Given the description of an element on the screen output the (x, y) to click on. 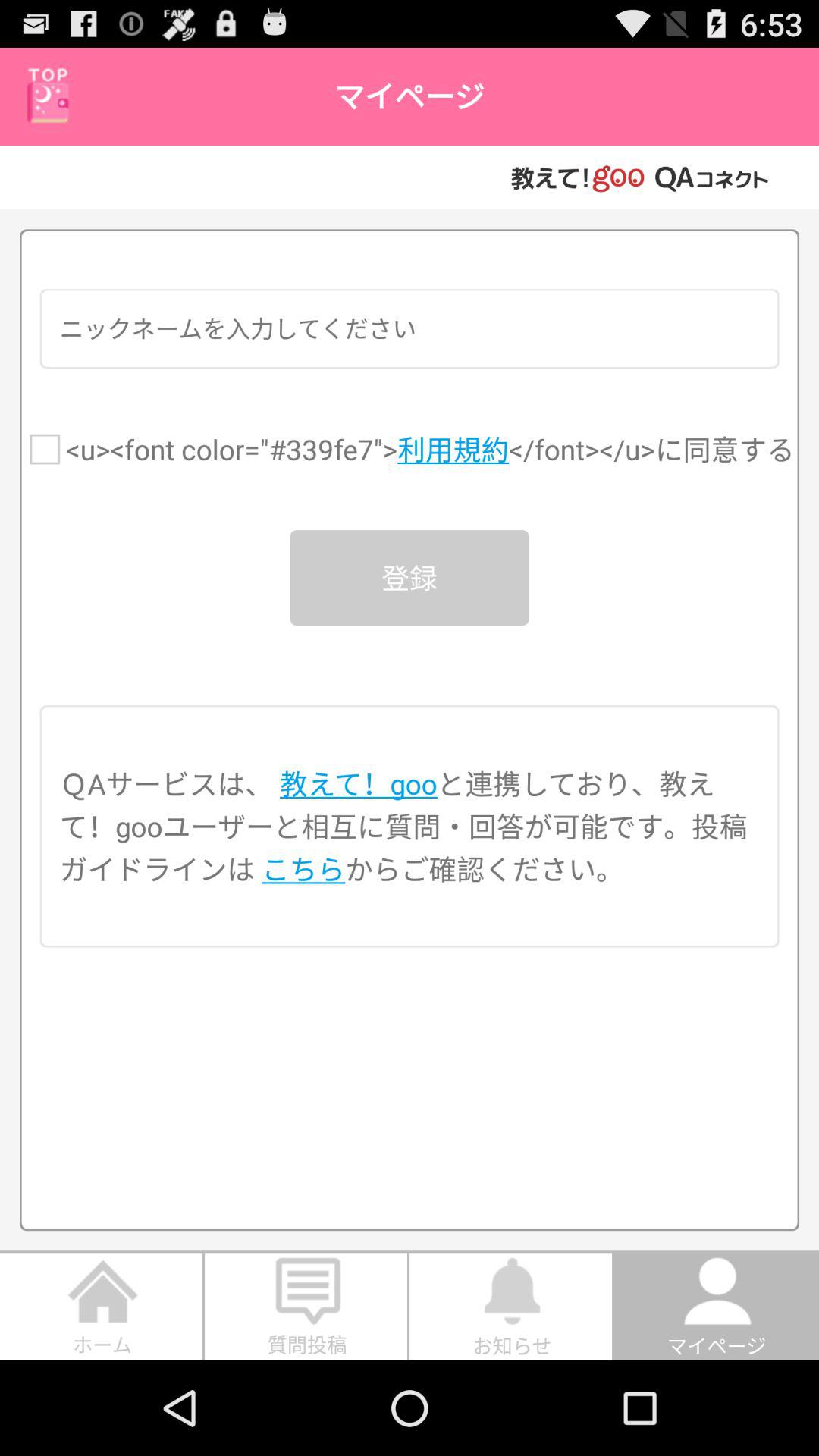
launch the u font color item (429, 449)
